Given the description of an element on the screen output the (x, y) to click on. 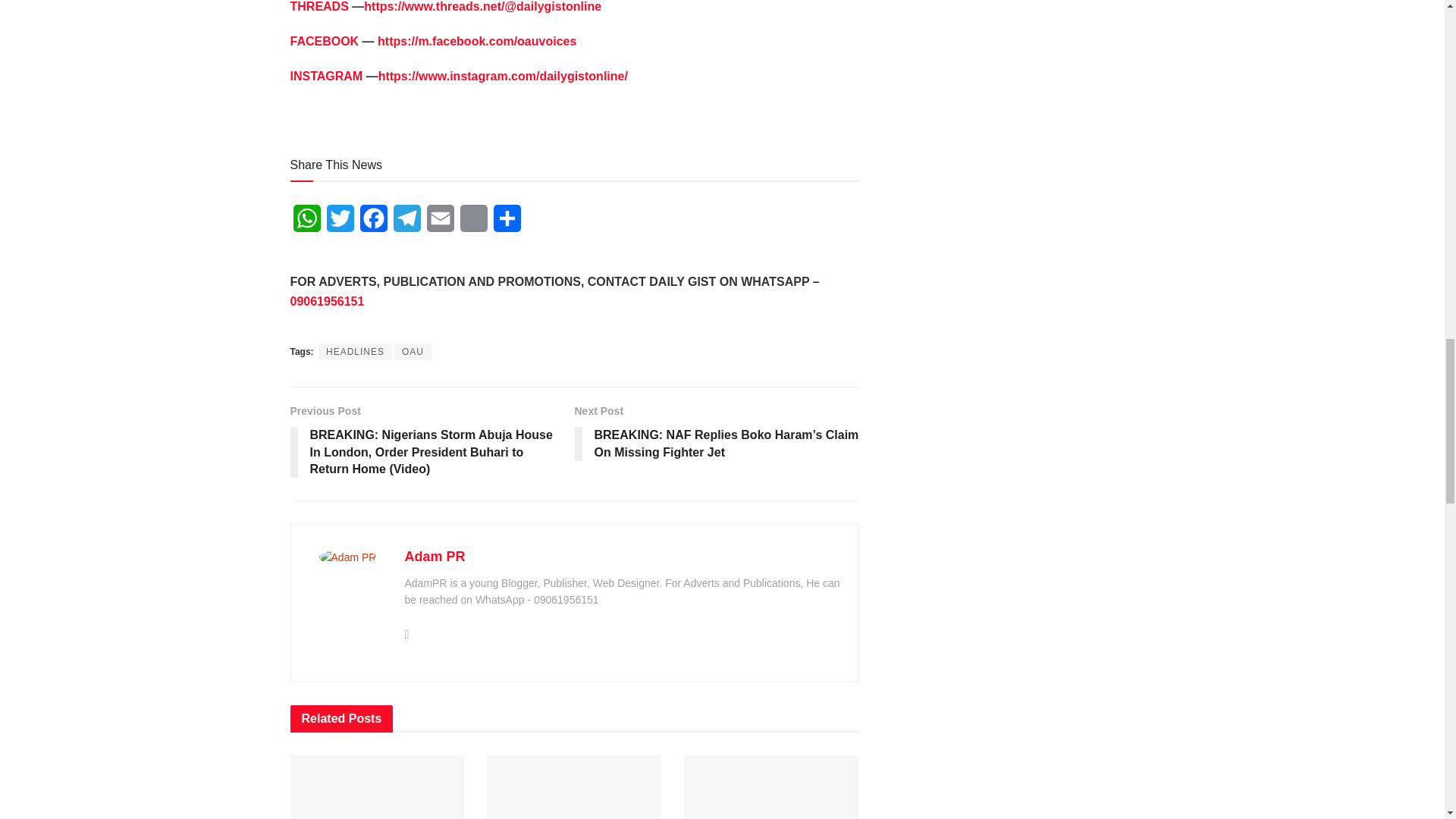
Copy Link (473, 222)
Facebook (373, 222)
Twitter (339, 222)
Telegram (406, 222)
Email (440, 222)
WhatsApp (306, 222)
